Given the description of an element on the screen output the (x, y) to click on. 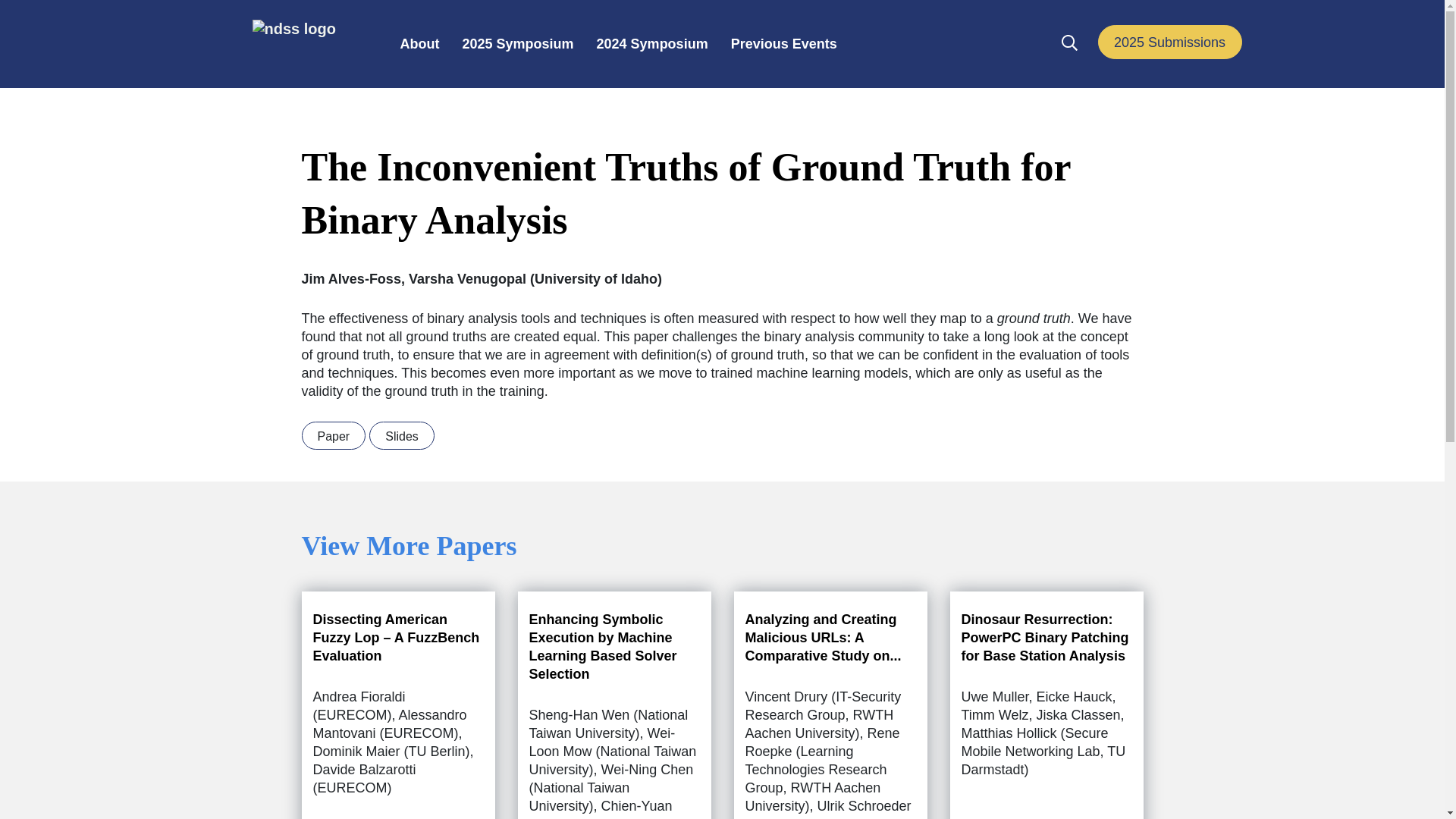
2024 Symposium (651, 46)
Paper (333, 435)
2025 Symposium (517, 46)
Previous Events (783, 46)
About (419, 46)
2025 Submissions (1169, 41)
Slides (401, 435)
